Given the description of an element on the screen output the (x, y) to click on. 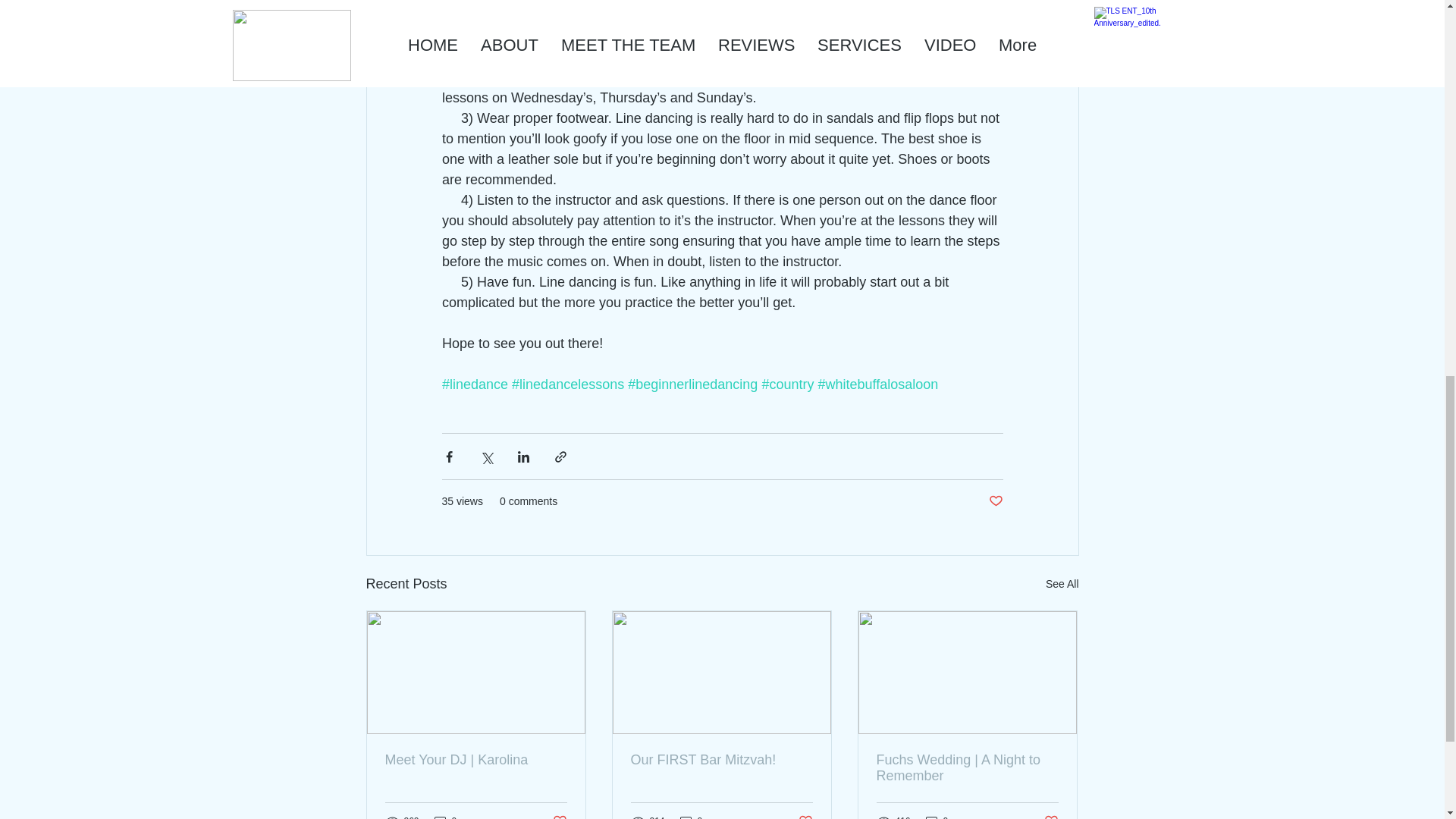
See All (1061, 584)
Our FIRST Bar Mitzvah! (721, 760)
0 (445, 816)
Post not marked as liked (995, 501)
0 (691, 816)
Post not marked as liked (558, 816)
0 (937, 816)
Post not marked as liked (804, 816)
